Given the description of an element on the screen output the (x, y) to click on. 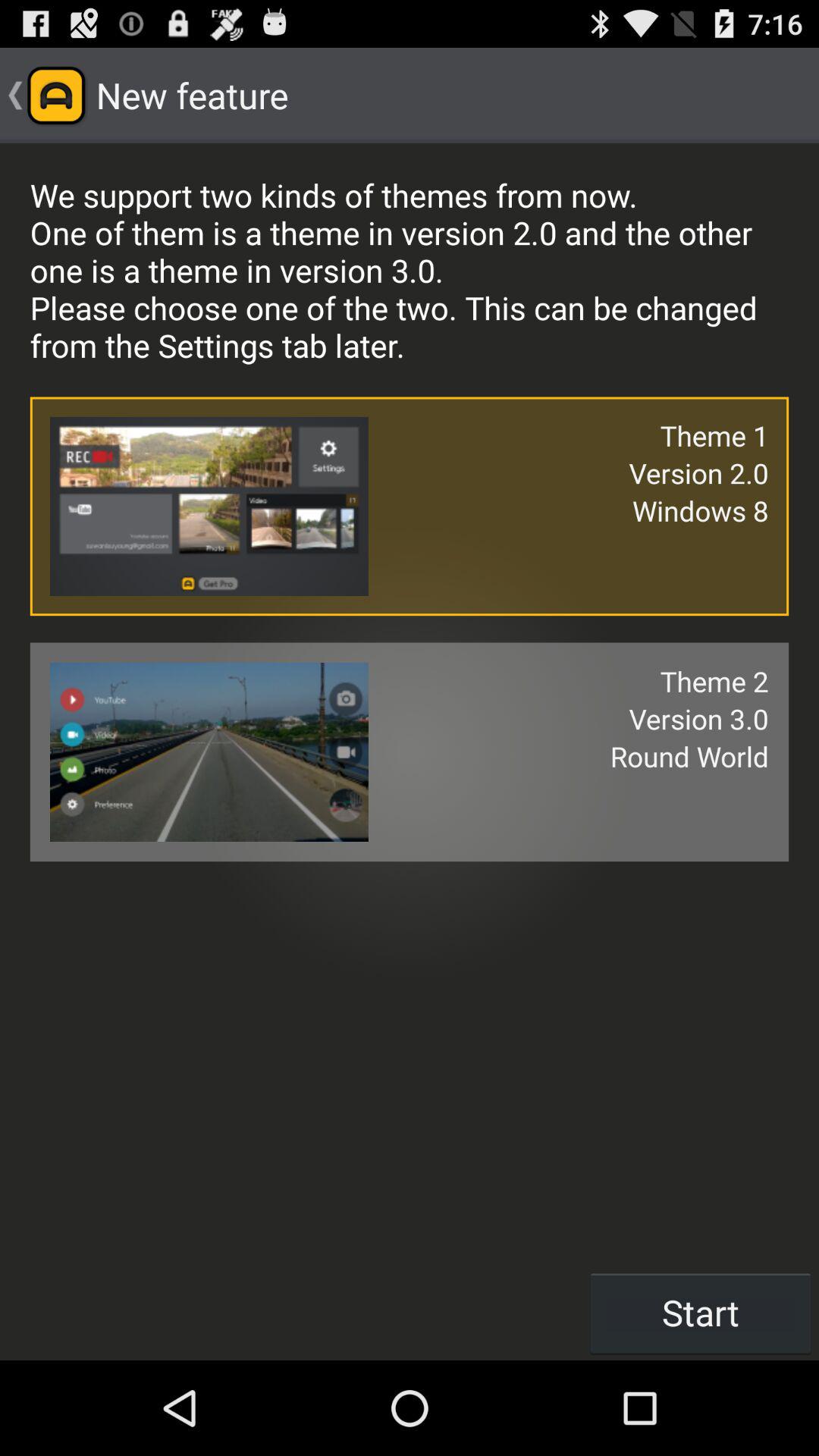
scroll until start button (700, 1312)
